Given the description of an element on the screen output the (x, y) to click on. 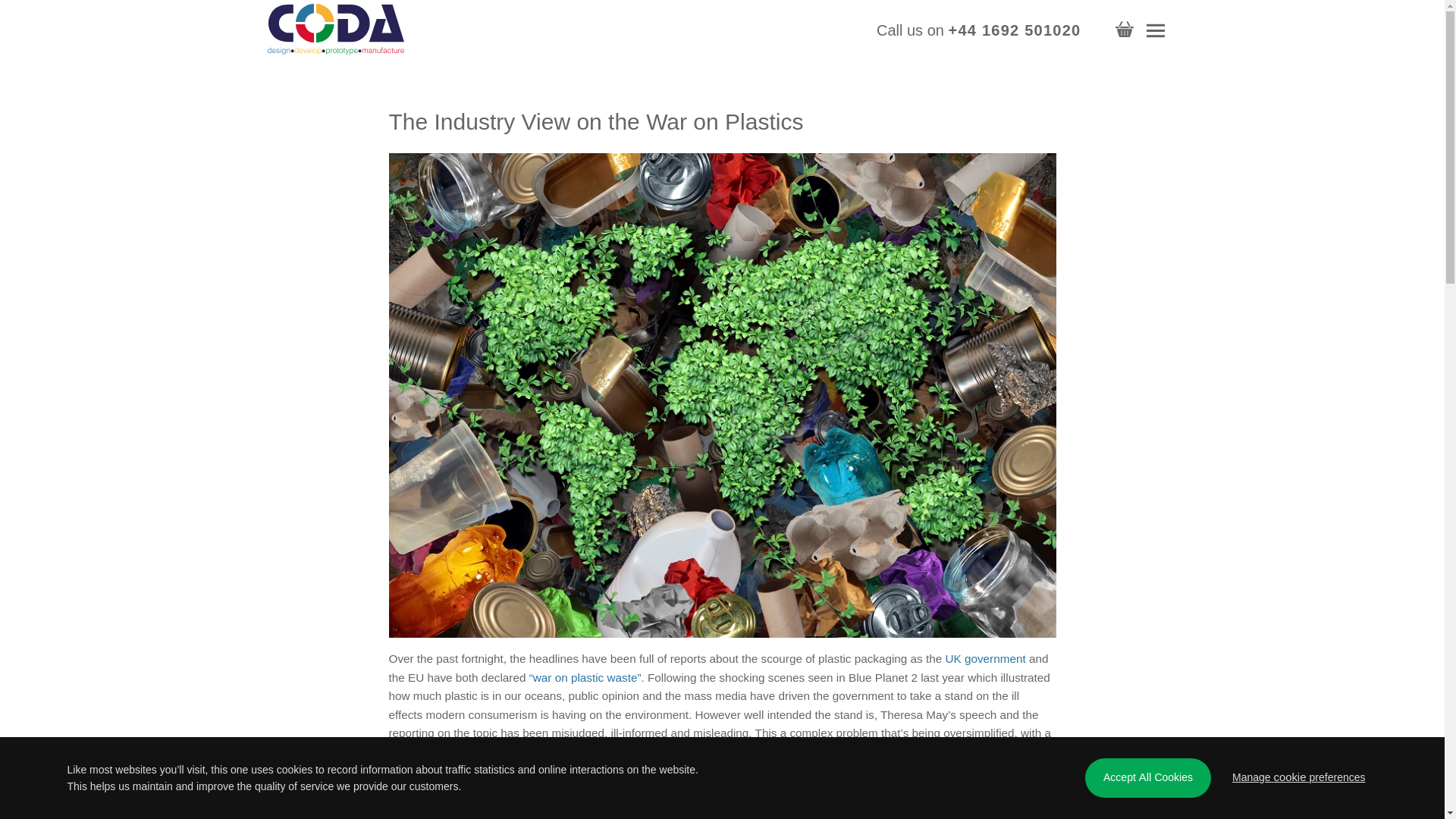
UK government (984, 658)
Navigation Menu (1155, 30)
Manage cookie preferences (1298, 777)
Catalogue (1123, 30)
Accept All Cookies (1147, 777)
